Given the description of an element on the screen output the (x, y) to click on. 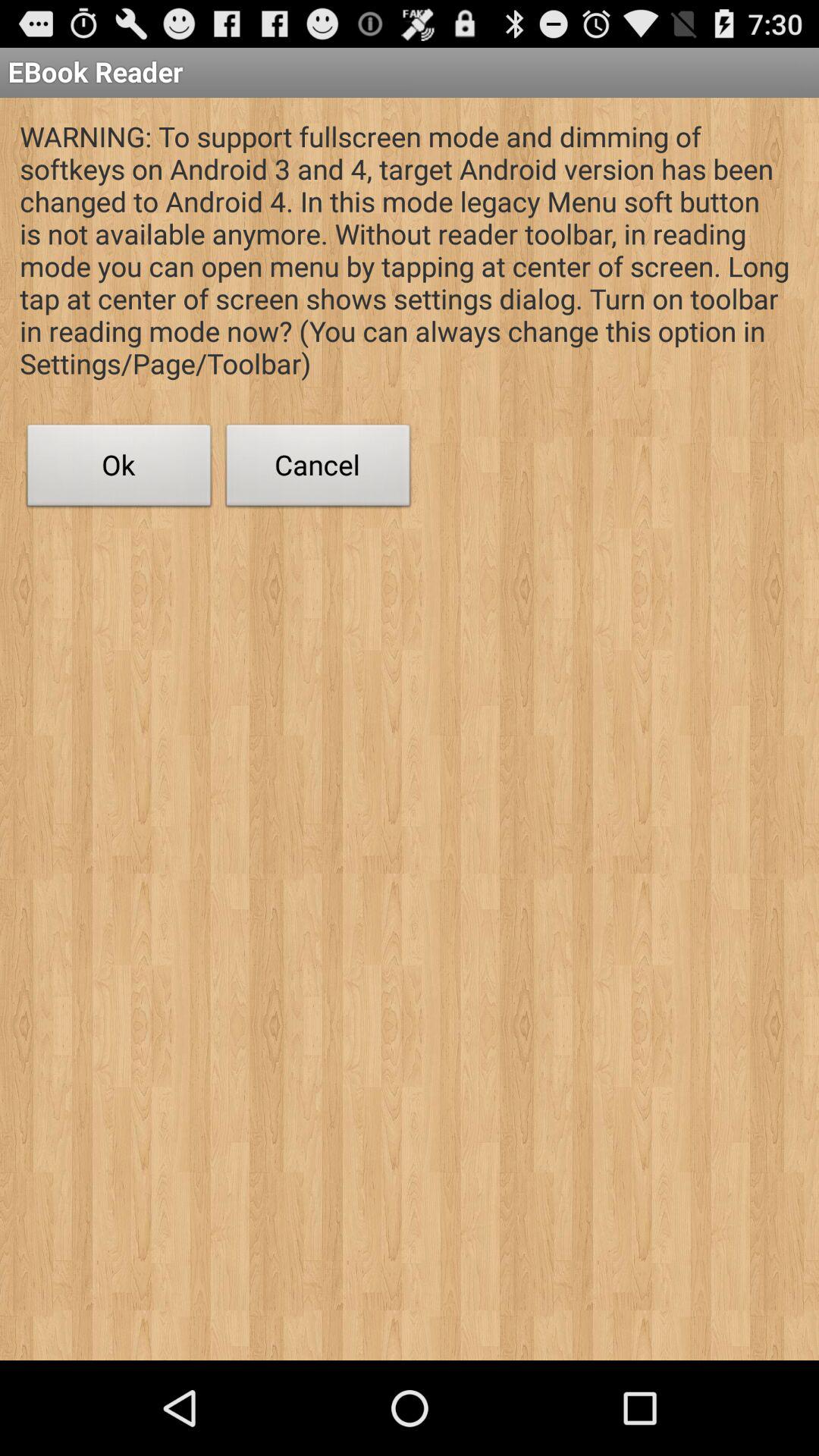
turn off cancel button (318, 469)
